Given the description of an element on the screen output the (x, y) to click on. 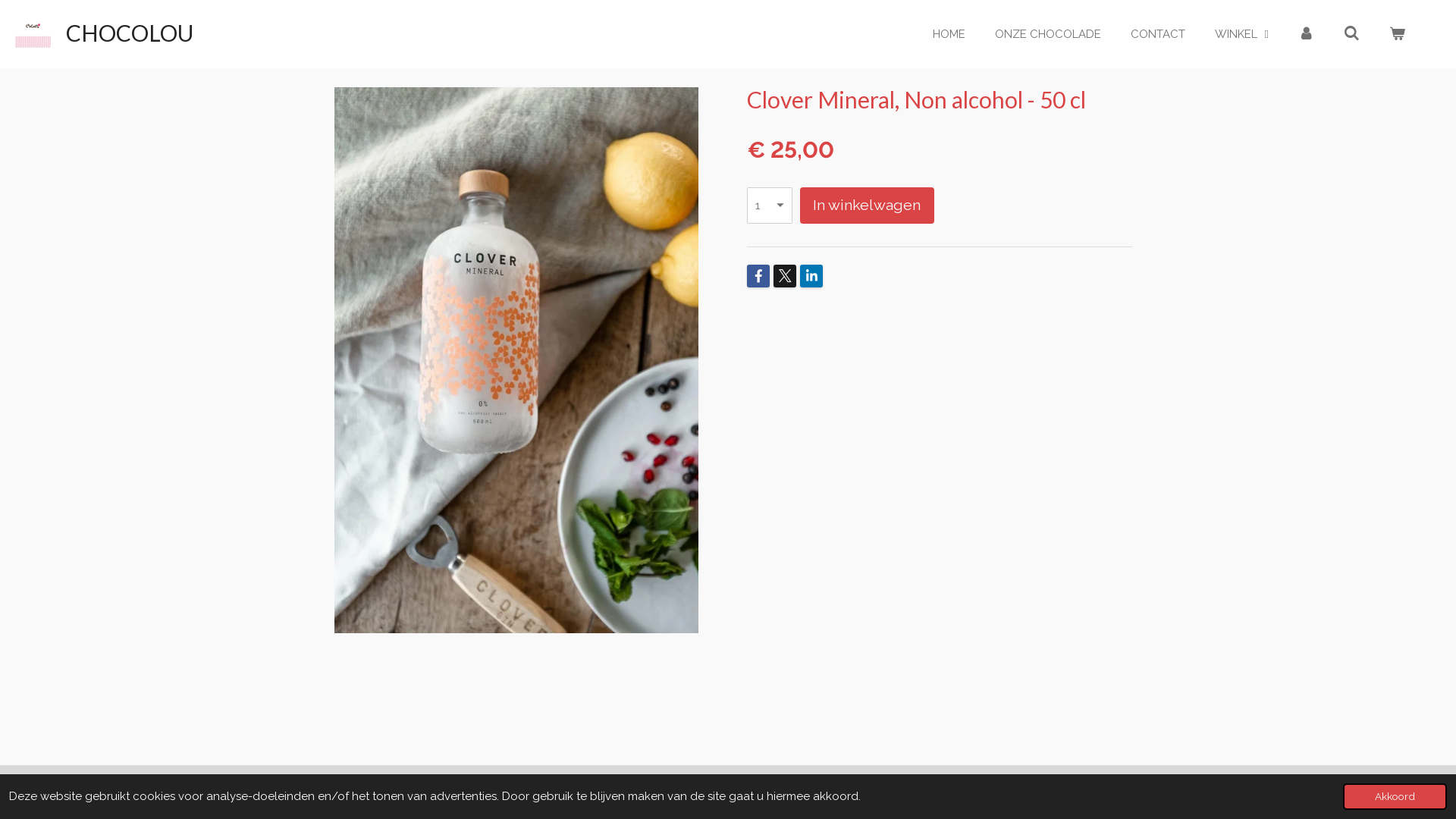
HOME Element type: text (948, 33)
CHOCOLOU Element type: text (129, 32)
Bekijk winkelwagen Element type: hover (1397, 33)
Zoeken Element type: hover (1351, 33)
In winkelwagen Element type: text (867, 204)
Akkoord Element type: text (1394, 796)
Account Element type: hover (1306, 33)
CHOCOLOU Element type: hover (32, 31)
ONZE CHOCOLADE Element type: text (1047, 33)
WINKEL Element type: text (1241, 33)
CONTACT Element type: text (1157, 33)
